Given the description of an element on the screen output the (x, y) to click on. 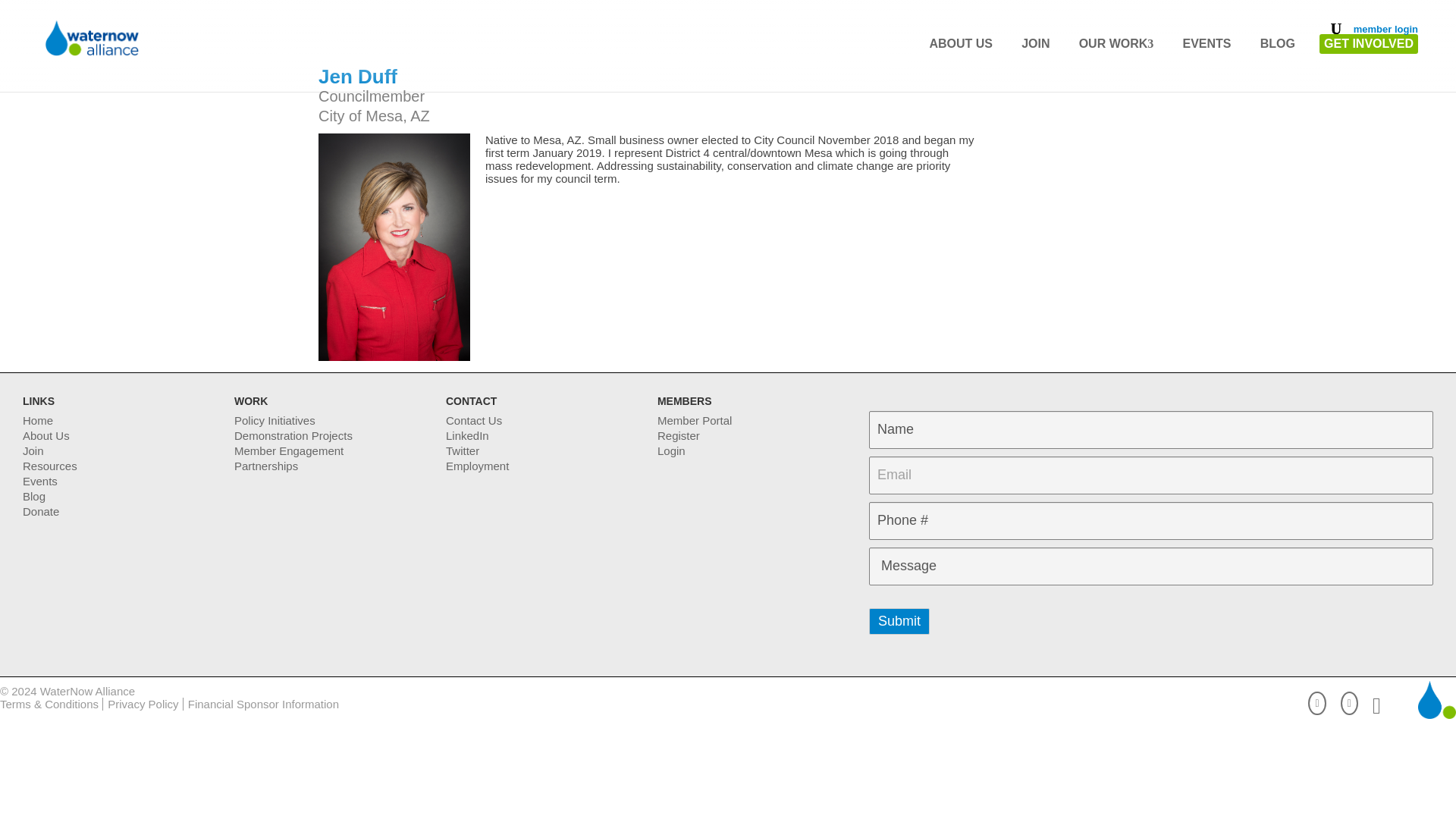
BLOG (1277, 44)
GET INVOLVED (1368, 44)
Name (1150, 429)
Register (679, 435)
Join (33, 450)
 Message (1150, 566)
Financial Sponsor Information (263, 703)
Twitter (462, 450)
Member Portal (695, 420)
Partnerships (266, 465)
